Given the description of an element on the screen output the (x, y) to click on. 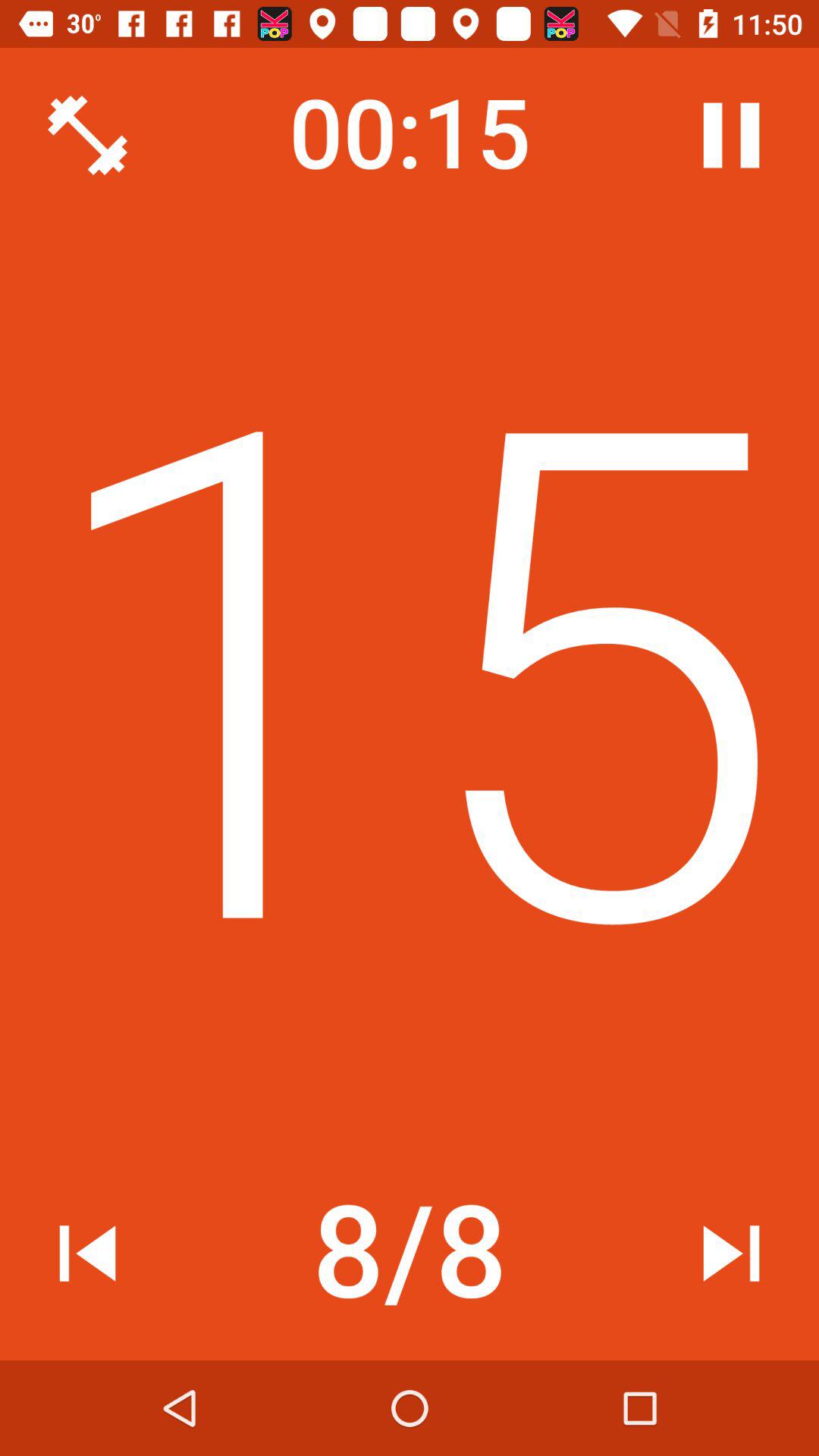
press the item to the right of 00:14 (731, 135)
